Given the description of an element on the screen output the (x, y) to click on. 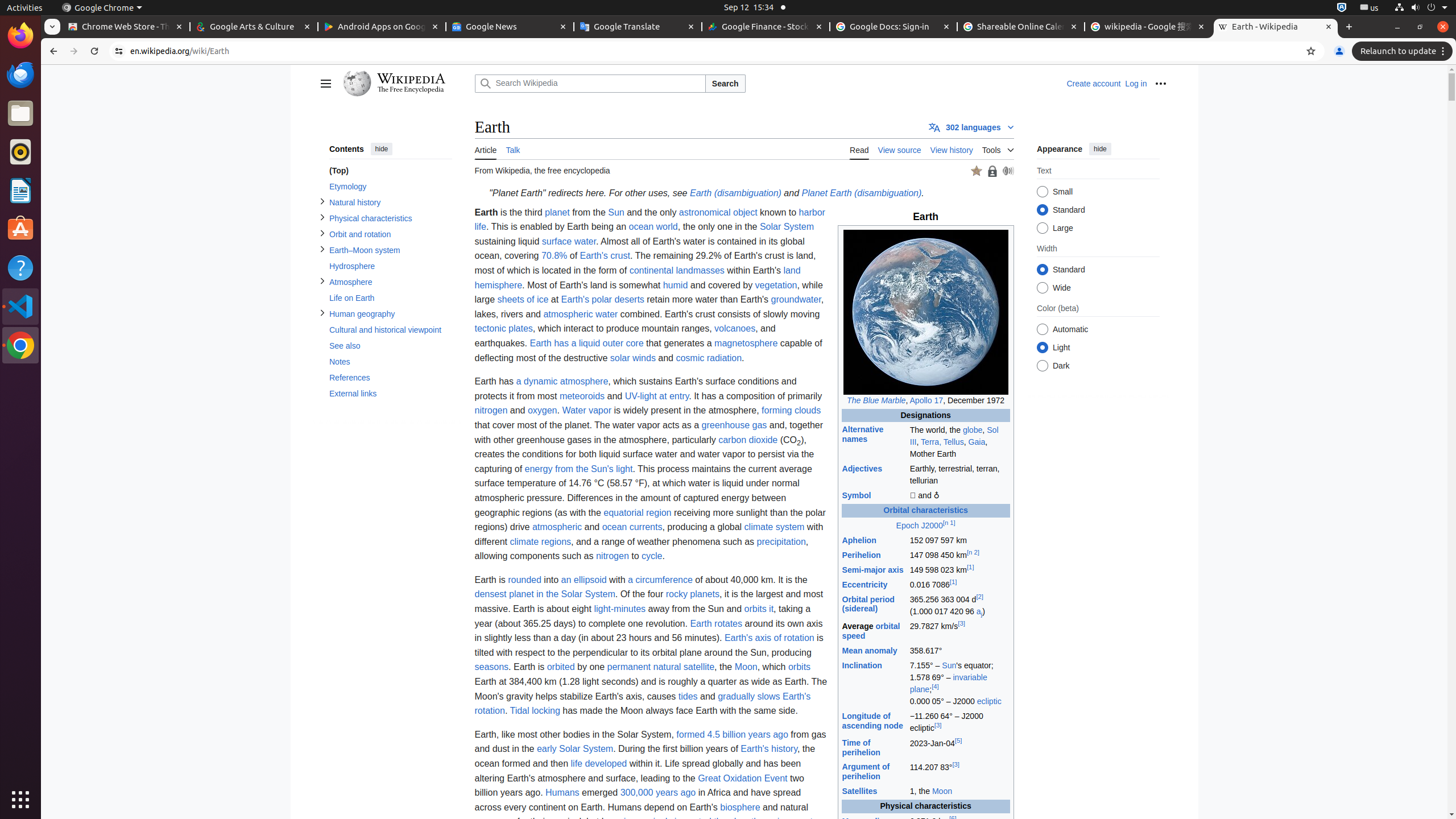
Water vapor Element type: link (586, 410)
Mean anomaly Element type: link (869, 650)
Inclination Element type: link (861, 664)
Earth (disambiguation) Element type: link (735, 193)
Shareable Online Calendar and Scheduling - Google Calendar - Memory usage - 88.5 MB Element type: page-tab (1020, 26)
